Given the description of an element on the screen output the (x, y) to click on. 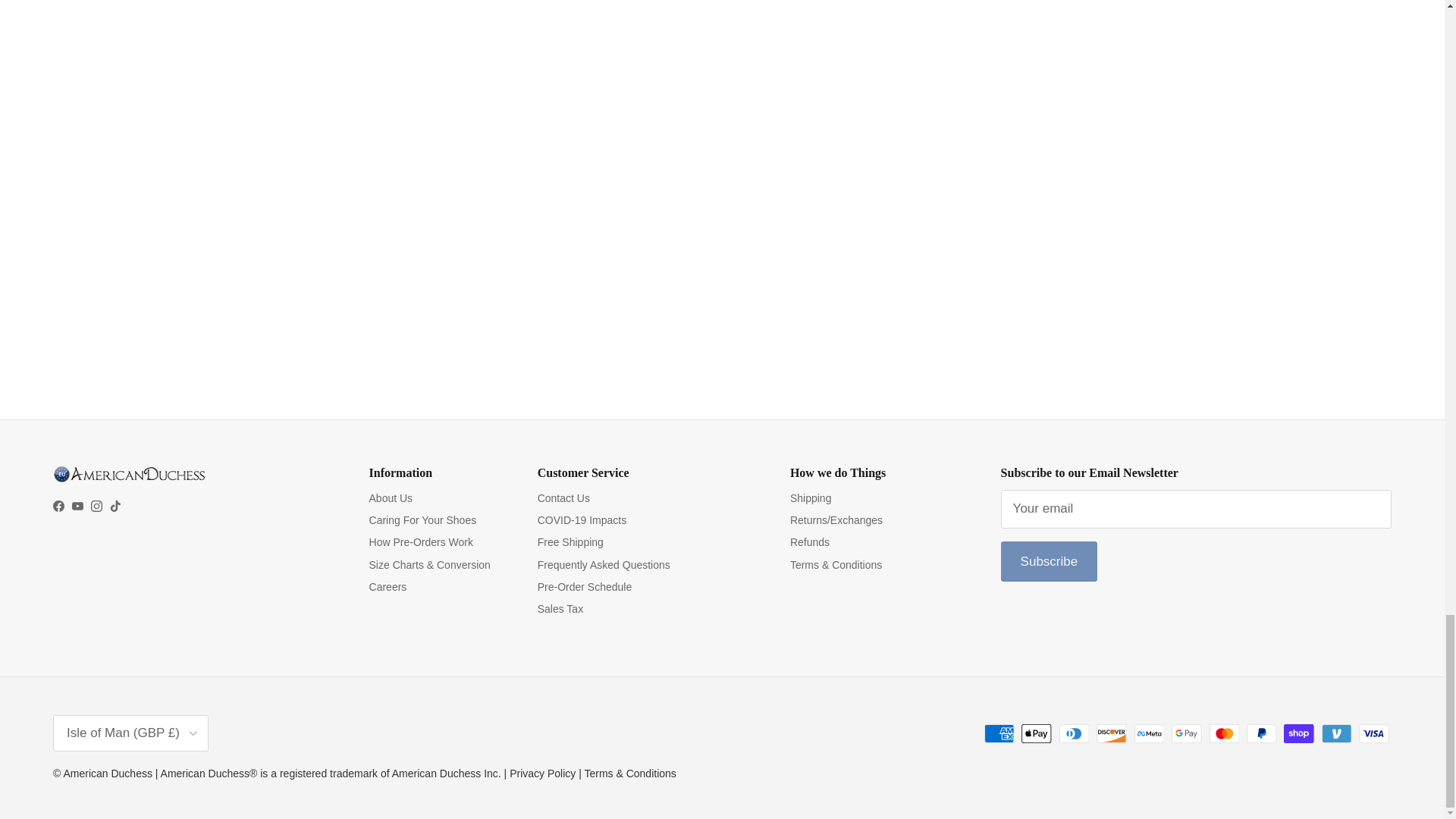
American Duchess - Europe on TikTok (115, 505)
American Duchess - Europe on YouTube (76, 505)
American Duchess - Europe on Facebook (58, 505)
American Duchess - Europe on Instagram (95, 505)
